Given the description of an element on the screen output the (x, y) to click on. 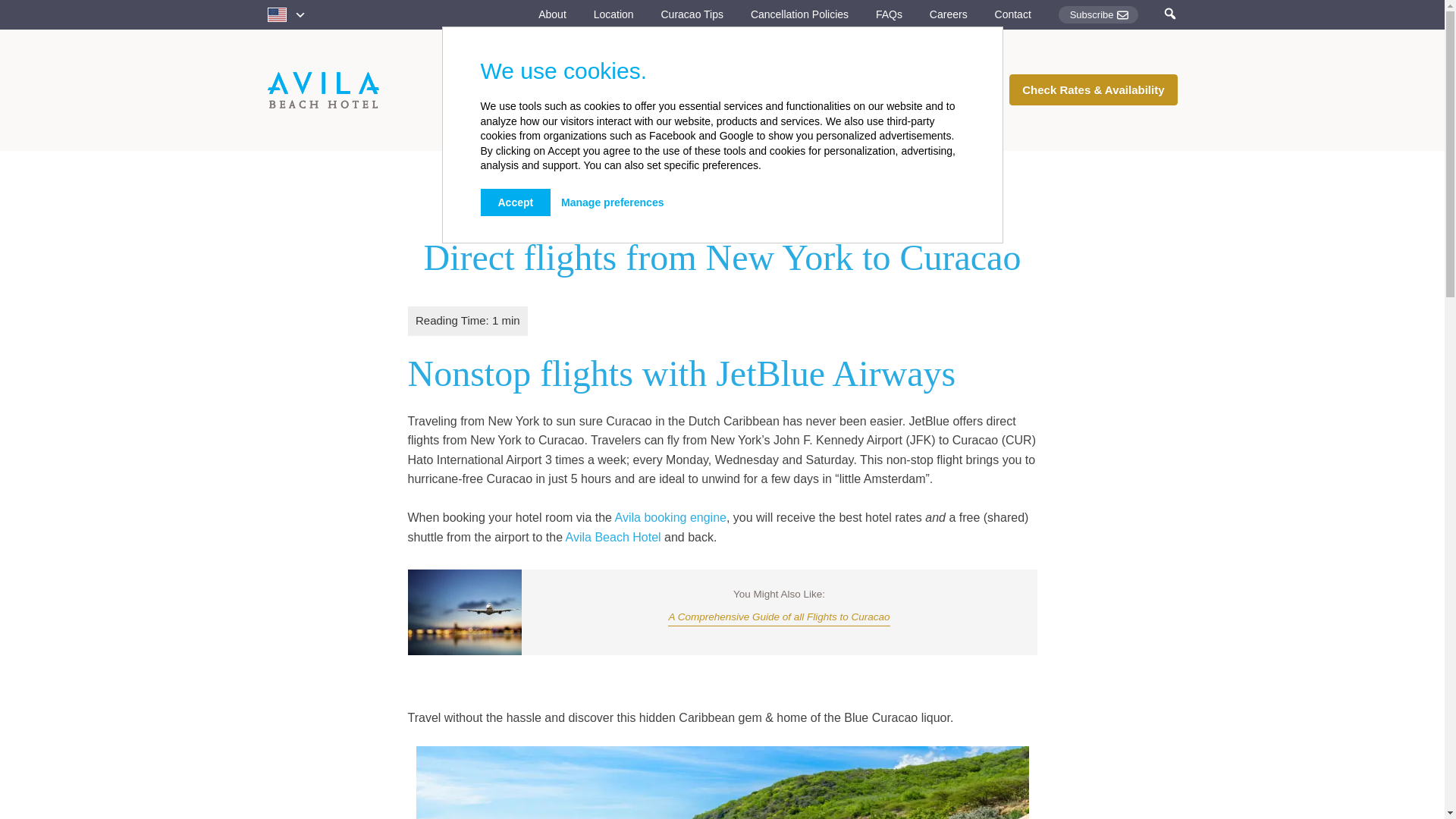
Careers (949, 14)
Location (613, 14)
ACCOMMODATIONS (532, 59)
FAQs (889, 14)
Curacao Tips (692, 14)
Subscribe (1098, 14)
Contact (1012, 14)
Cancellation Policies (799, 14)
About (552, 14)
DISCOVER AVILA (660, 59)
